Given the description of an element on the screen output the (x, y) to click on. 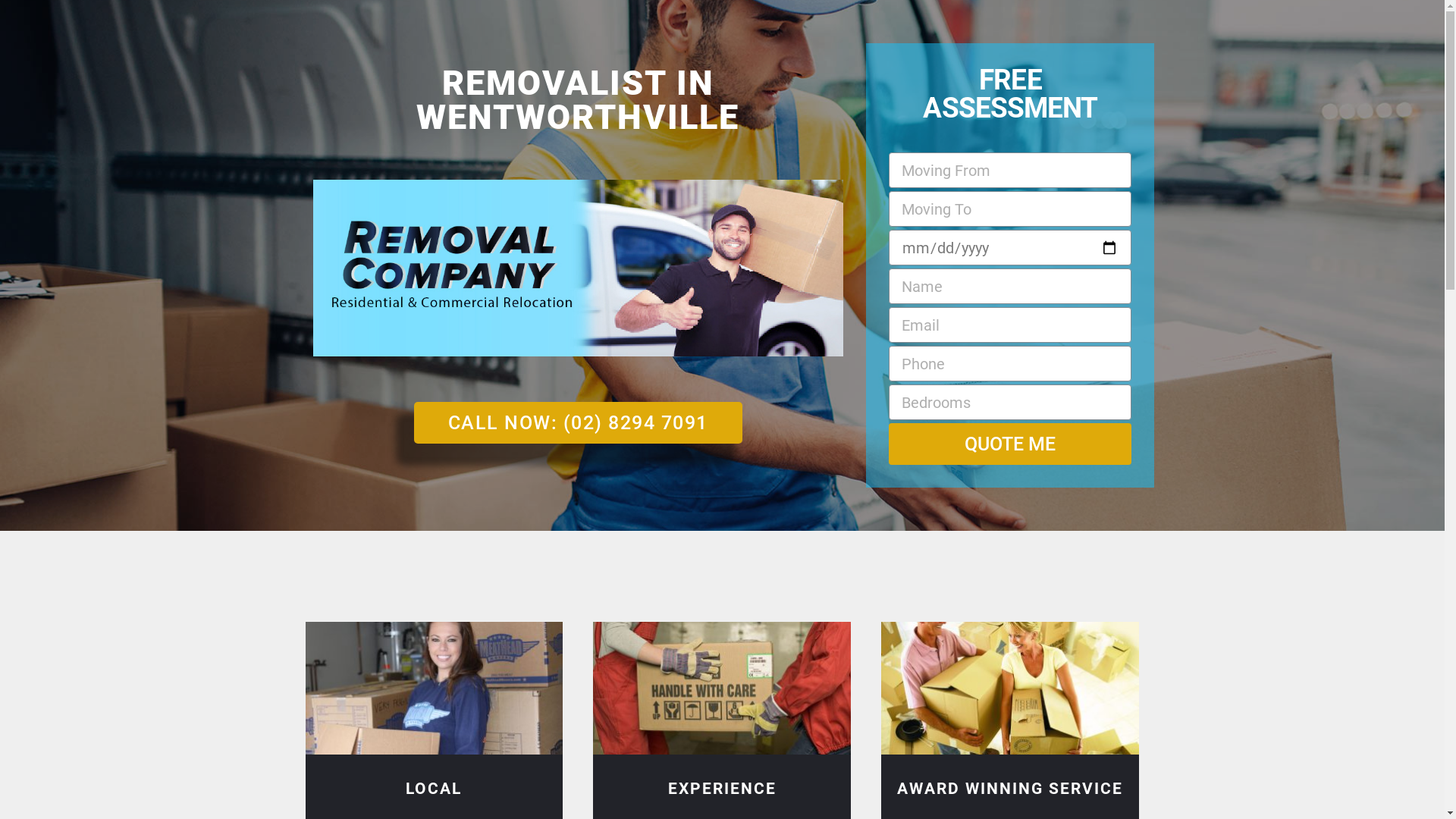
Local Removalists Wentworthville Element type: hover (433, 687)
QUOTE ME Element type: text (1009, 443)
CALL NOW: (02) 8294 7091 Element type: text (578, 422)
Experienced Removalists Wentworthville Element type: hover (721, 687)
Award Winning Removal Services in Wentworthville Element type: hover (1010, 687)
